Given the description of an element on the screen output the (x, y) to click on. 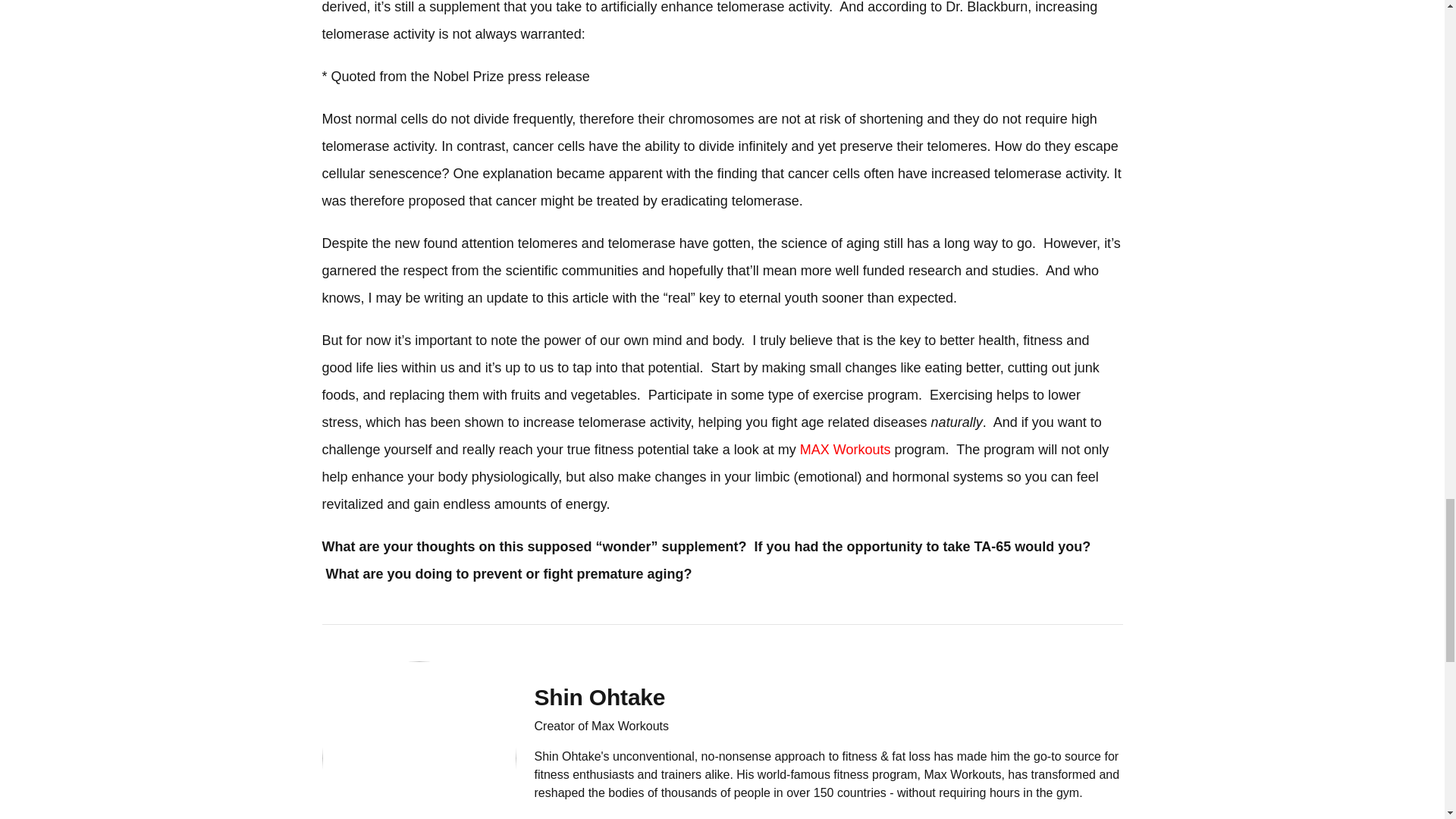
MAX Workouts (845, 449)
